Given the description of an element on the screen output the (x, y) to click on. 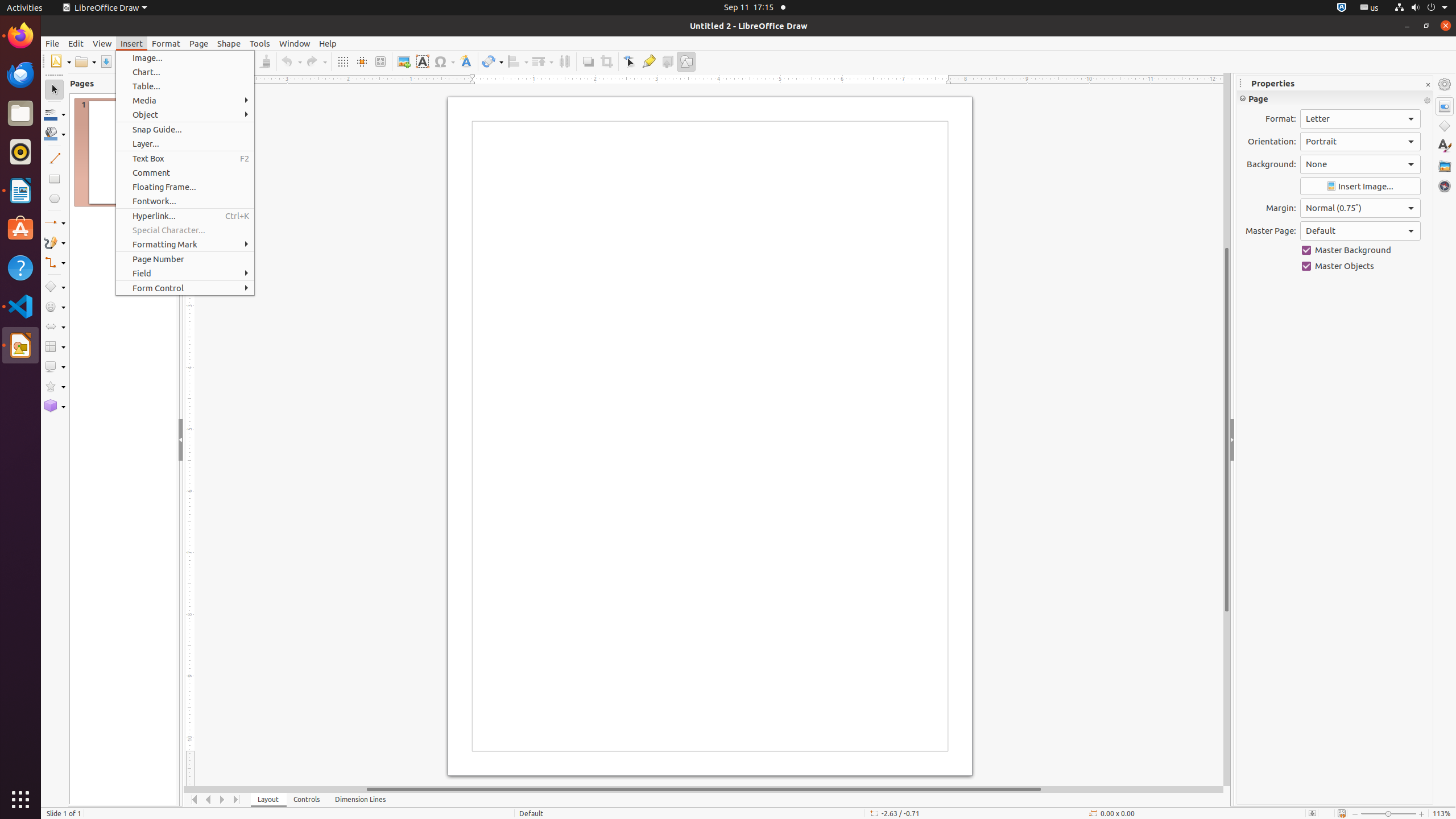
More Options Element type: push-button (1426, 100)
Edit Points Element type: push-button (629, 61)
Move Right Element type: push-button (222, 799)
Image Element type: push-button (403, 61)
